Given the description of an element on the screen output the (x, y) to click on. 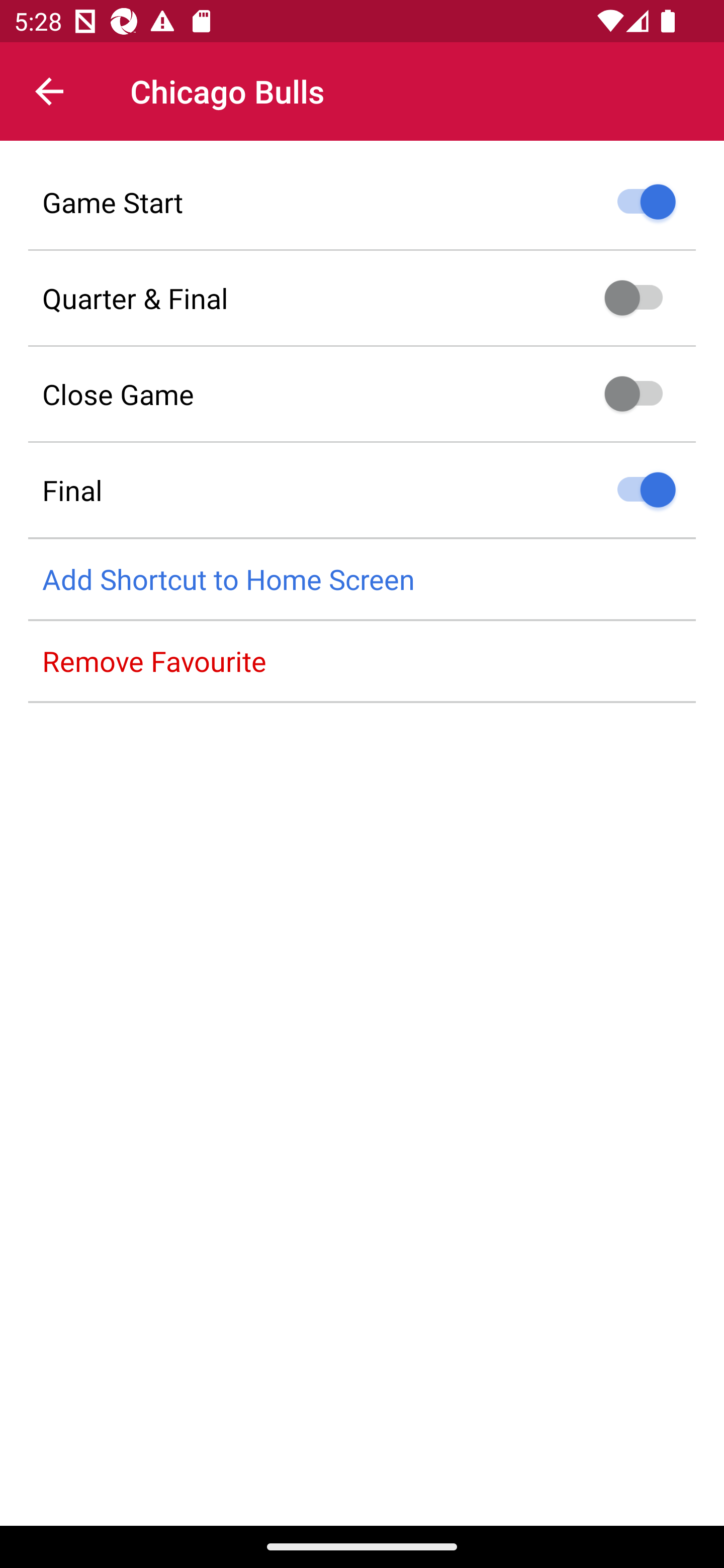
Navigate up (49, 91)
Add Shortcut to Home Screen (362, 579)
Remove Favourite (362, 661)
